Given the description of an element on the screen output the (x, y) to click on. 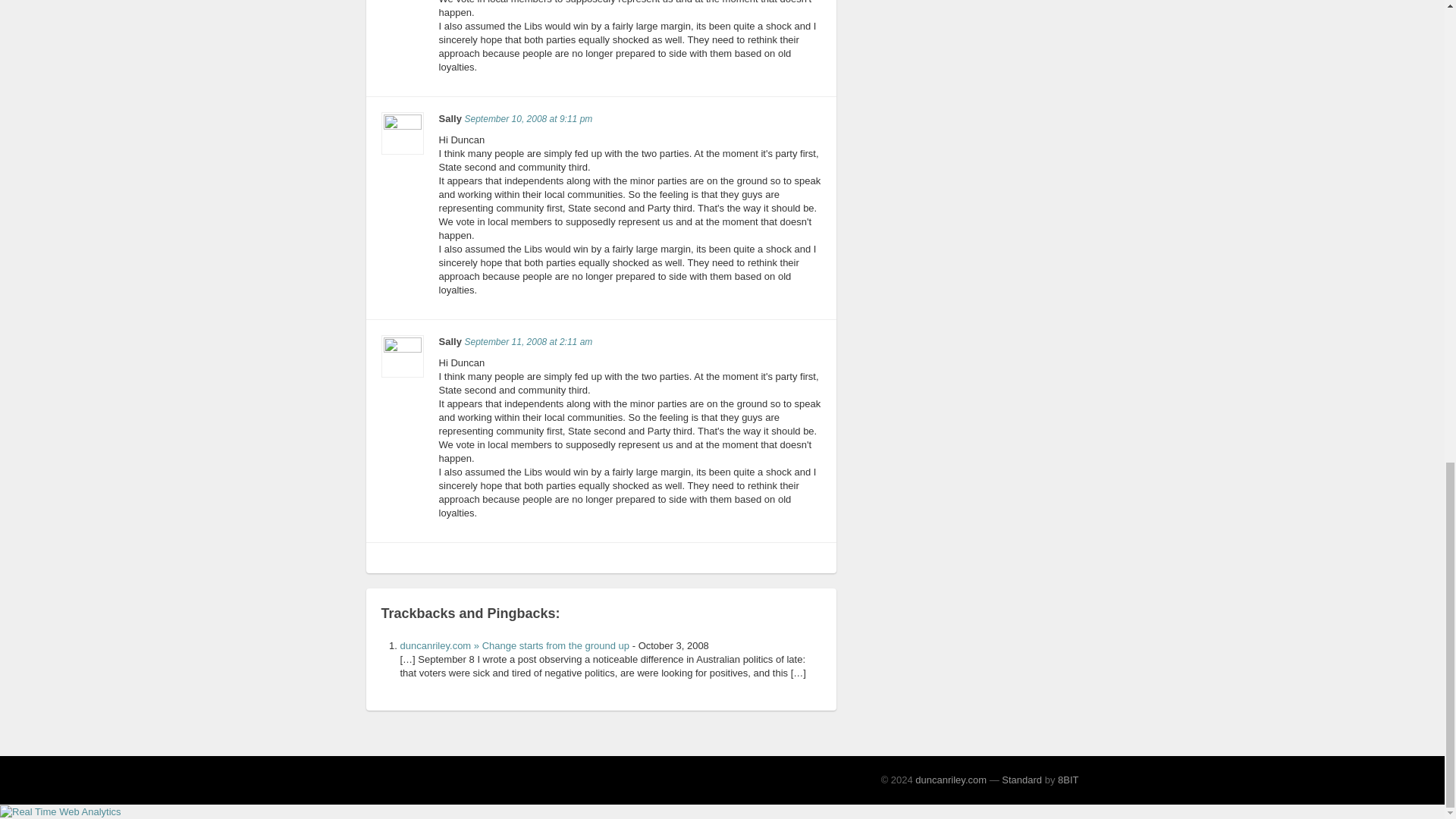
September 11, 2008 at 2:11 am (528, 341)
Permalink (528, 118)
Real Time Web Analytics (60, 810)
September 10, 2008 at 9:11 pm (528, 118)
Permalink (528, 341)
